Given the description of an element on the screen output the (x, y) to click on. 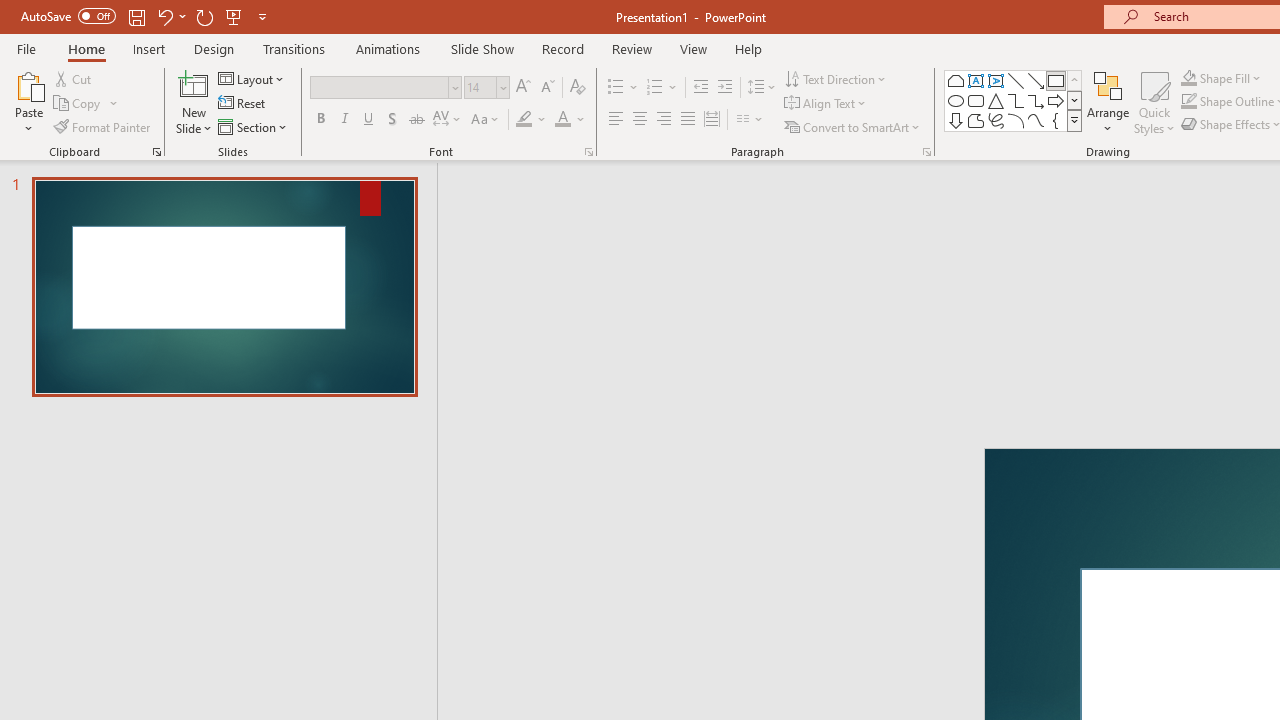
Shape Fill Orange, Accent 2 (1188, 78)
